Given the description of an element on the screen output the (x, y) to click on. 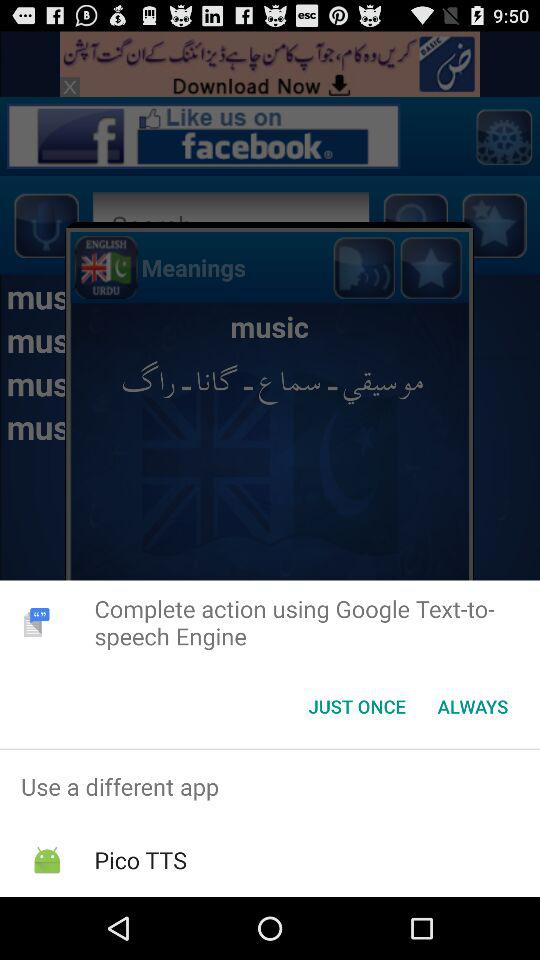
click the button to the left of the always (356, 706)
